Given the description of an element on the screen output the (x, y) to click on. 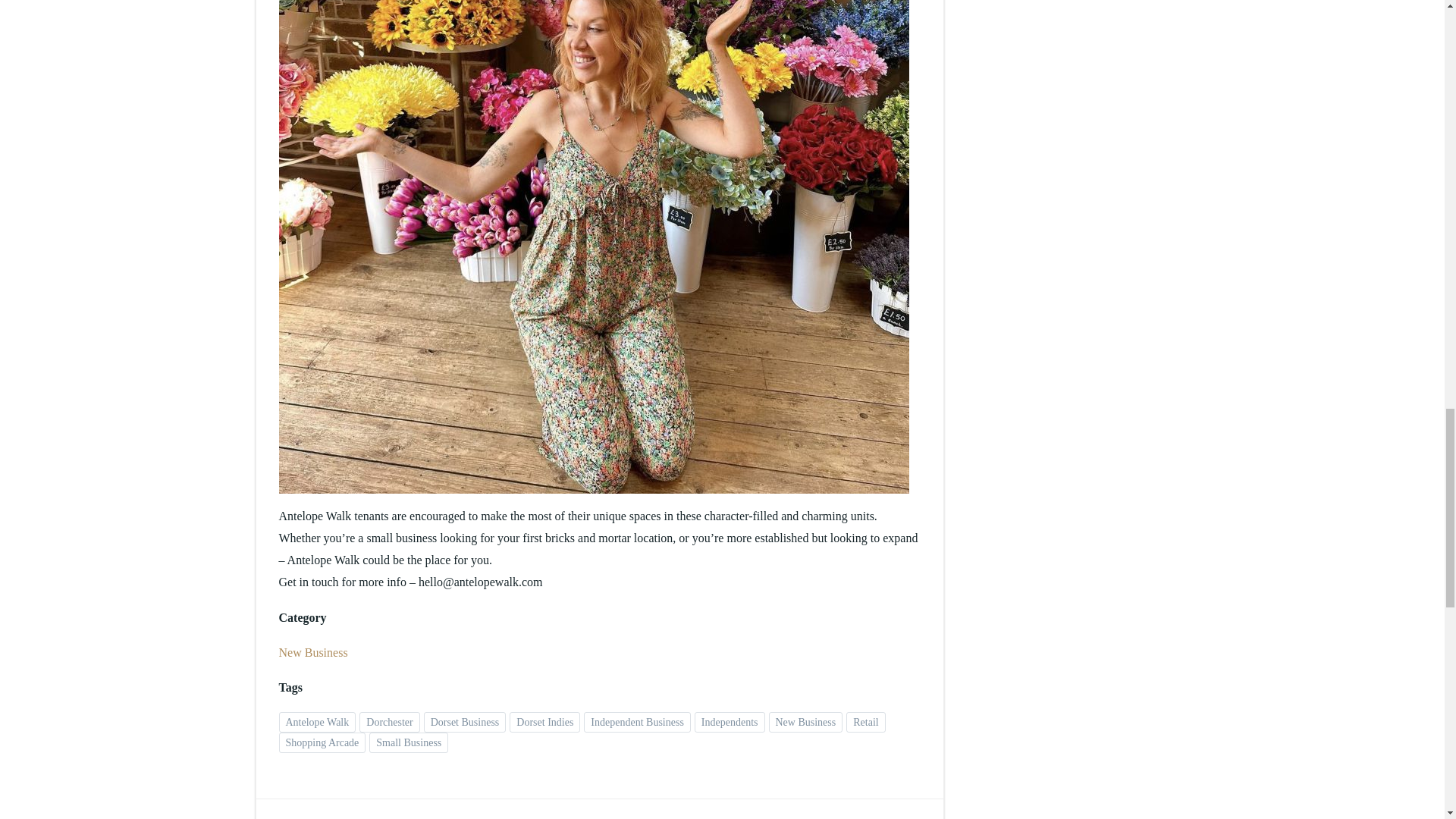
New Business (313, 652)
Next post (913, 818)
New Business Tag (805, 721)
Small Business (408, 742)
Retail Tag (865, 721)
Independent Business (636, 721)
Dorset Indies (544, 721)
Dorchester Tag (389, 721)
Dorset Business (464, 721)
Independents (729, 721)
Dorset Indies Tag (544, 721)
Dorset Business Tag (464, 721)
Antelope Walk (317, 721)
Shopping Arcade (322, 742)
Retail (865, 721)
